Given the description of an element on the screen output the (x, y) to click on. 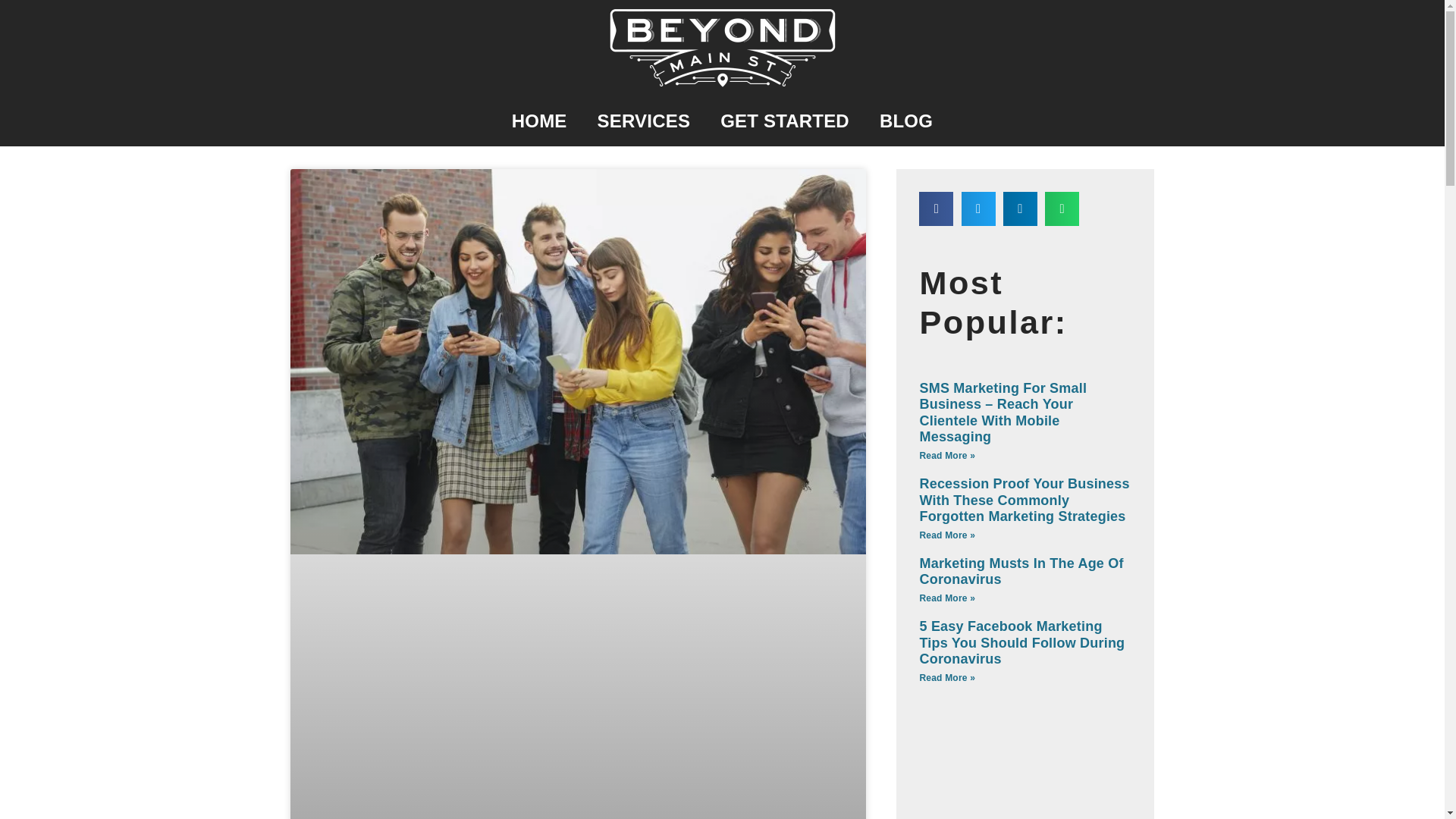
GET STARTED (784, 121)
HOME (539, 121)
Marketing Musts In The Age Of Coronavirus (1020, 572)
SERVICES (644, 121)
BLOG (905, 121)
